Given the description of an element on the screen output the (x, y) to click on. 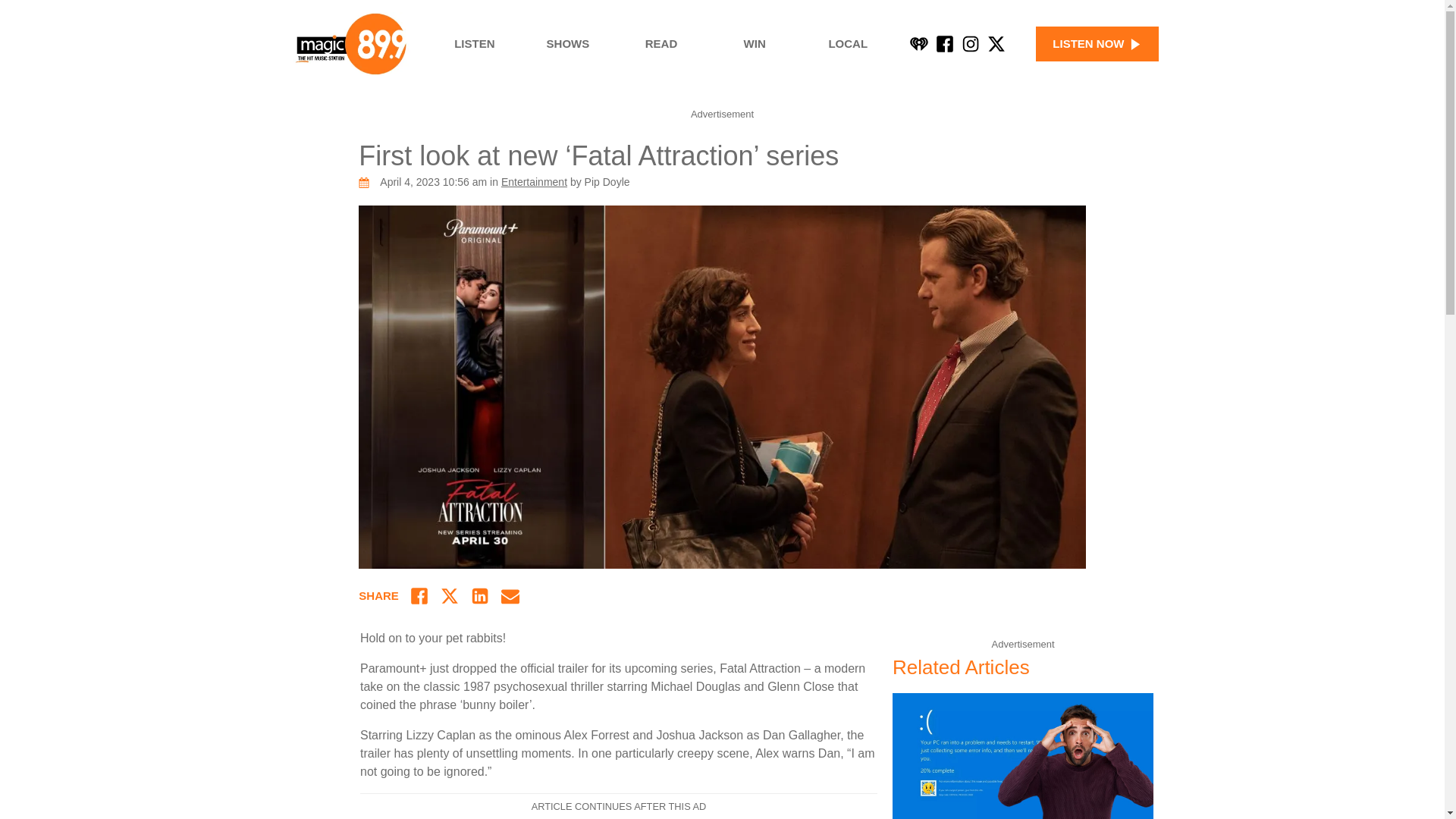
Instagram (969, 44)
SHOWS (567, 43)
LOCAL (848, 43)
READ (660, 43)
Facebook (944, 44)
iHeart (919, 44)
WIN (754, 43)
LISTEN NOW (1096, 44)
LISTEN (474, 43)
